Given the description of an element on the screen output the (x, y) to click on. 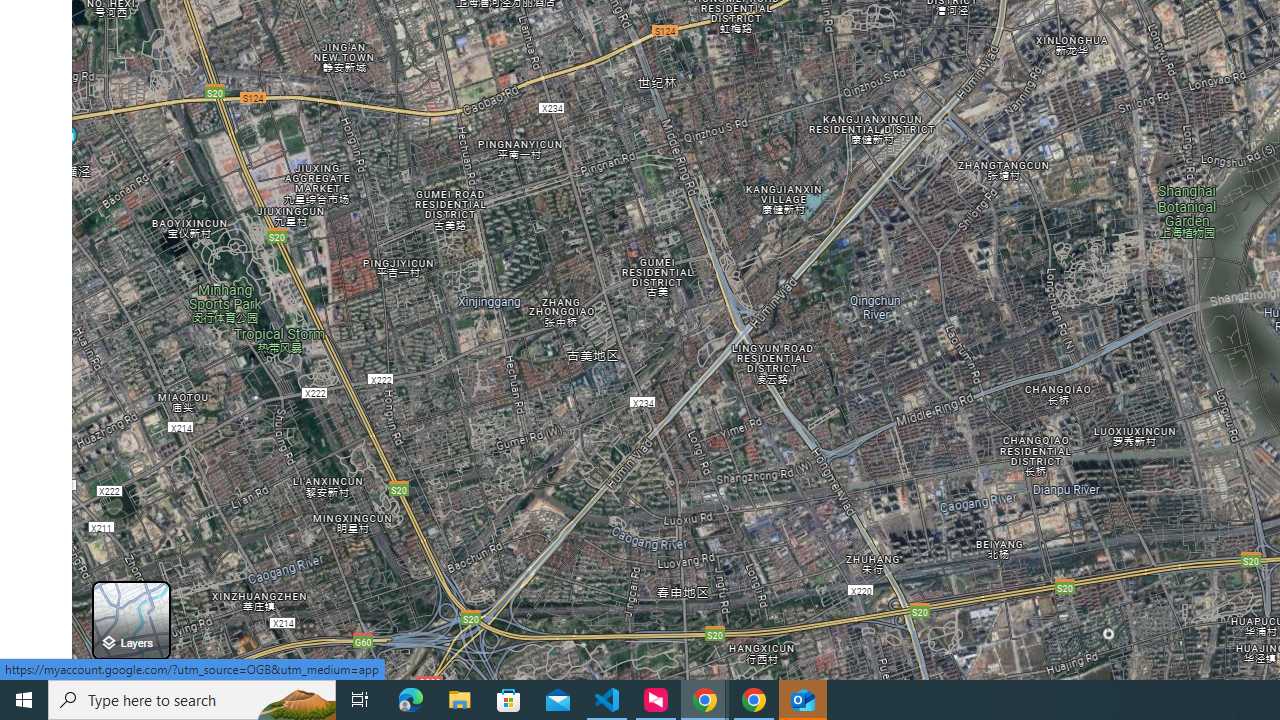
Layers (130, 620)
